Given the description of an element on the screen output the (x, y) to click on. 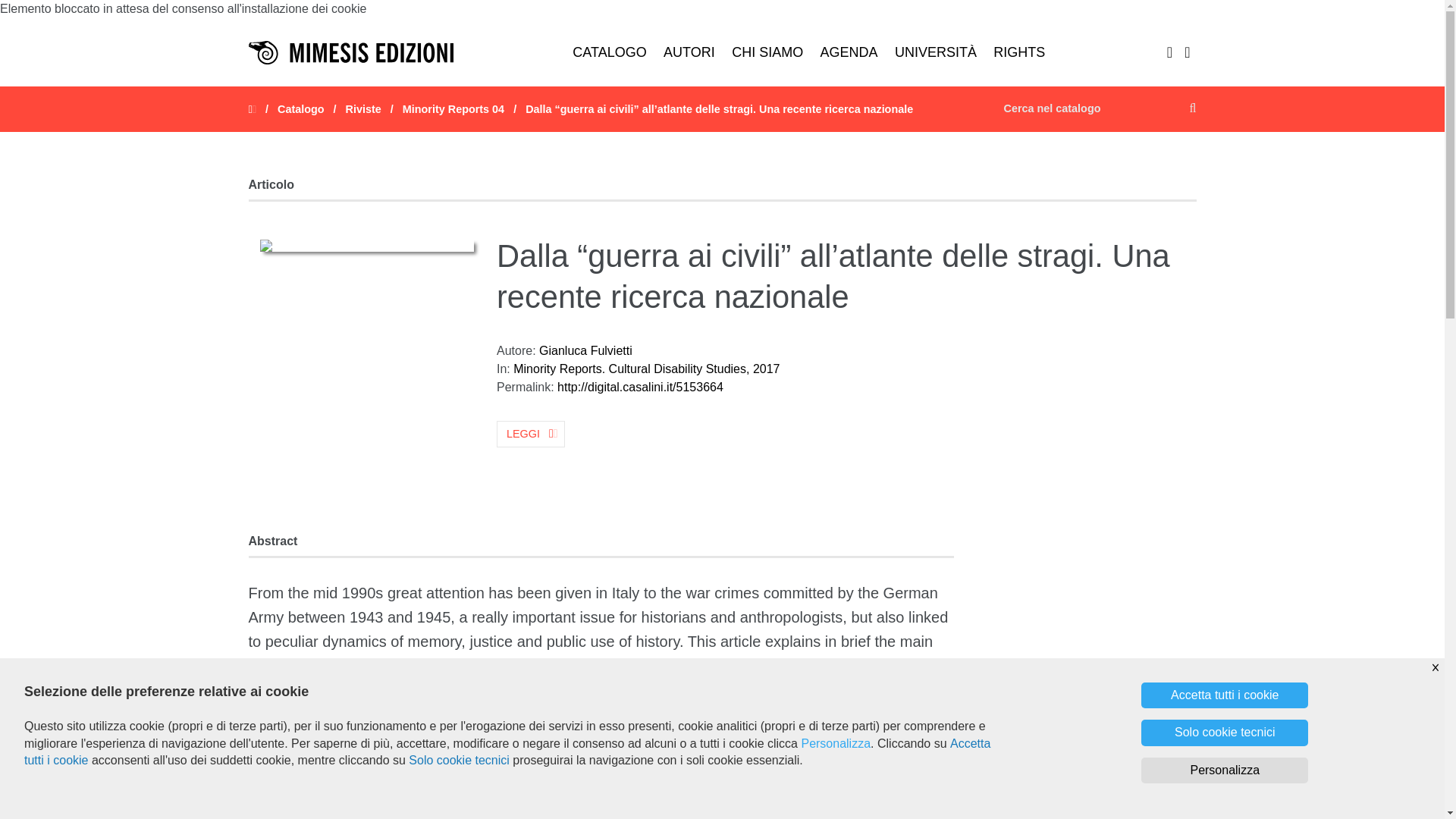
RIGHTS (1018, 52)
Accetta tutti i cookie (507, 751)
CHI SIAMO (766, 52)
AUTORI (689, 52)
Solo cookie tecnici (459, 759)
CATALOGO (609, 52)
AGENDA (847, 52)
Personalizza (1224, 769)
Personalizza (835, 743)
Solo cookie tecnici (1224, 732)
